Given the description of an element on the screen output the (x, y) to click on. 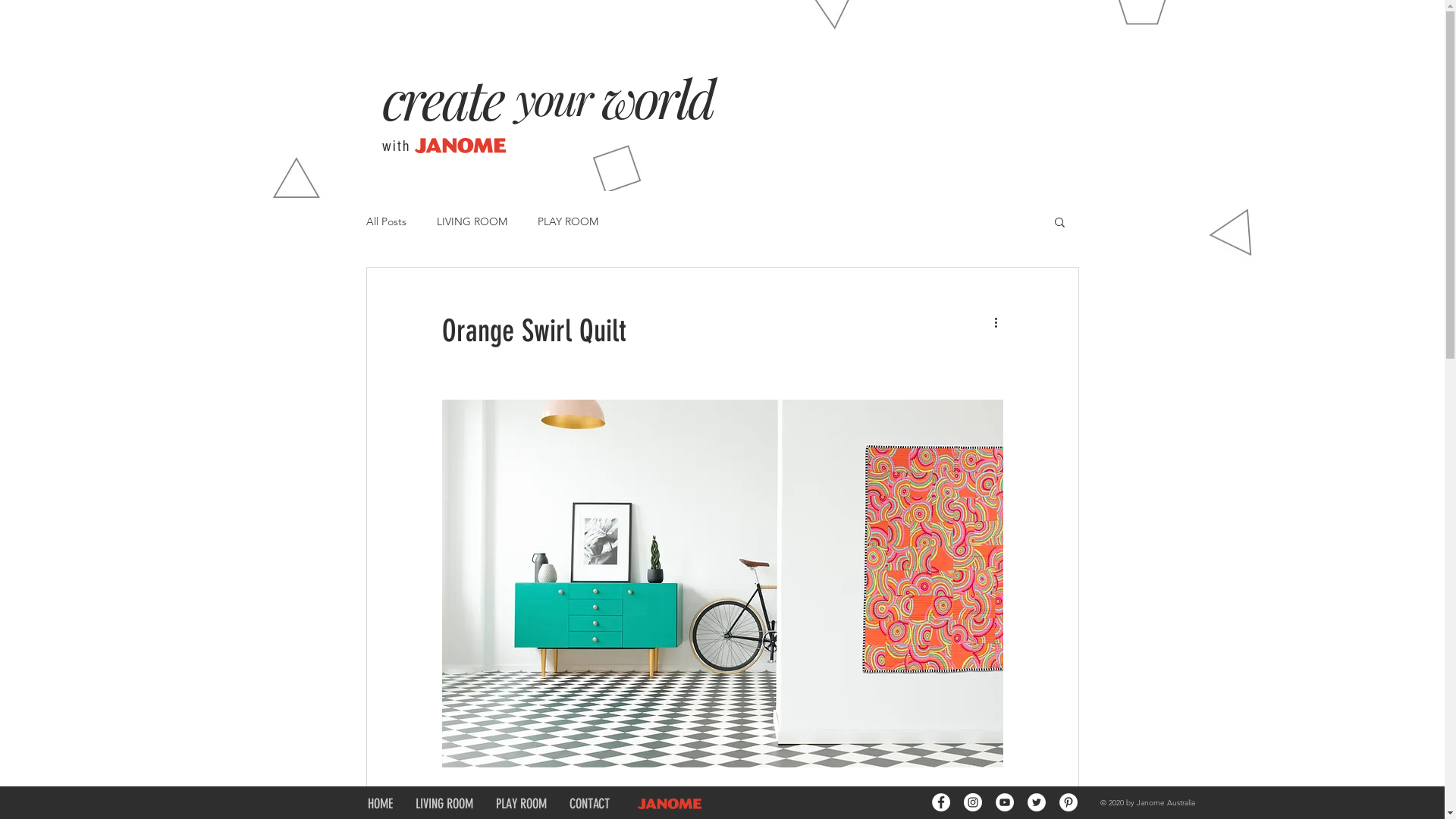
create Element type: text (442, 97)
CONTACT Element type: text (589, 803)
PLAY ROOM Element type: text (566, 221)
HOME Element type: text (380, 803)
All Posts Element type: text (385, 221)
your Element type: text (553, 97)
LIVING ROOM Element type: text (443, 803)
LIVING ROOM Element type: text (471, 221)
PLAY ROOM Element type: text (520, 803)
world Element type: text (656, 96)
